Given the description of an element on the screen output the (x, y) to click on. 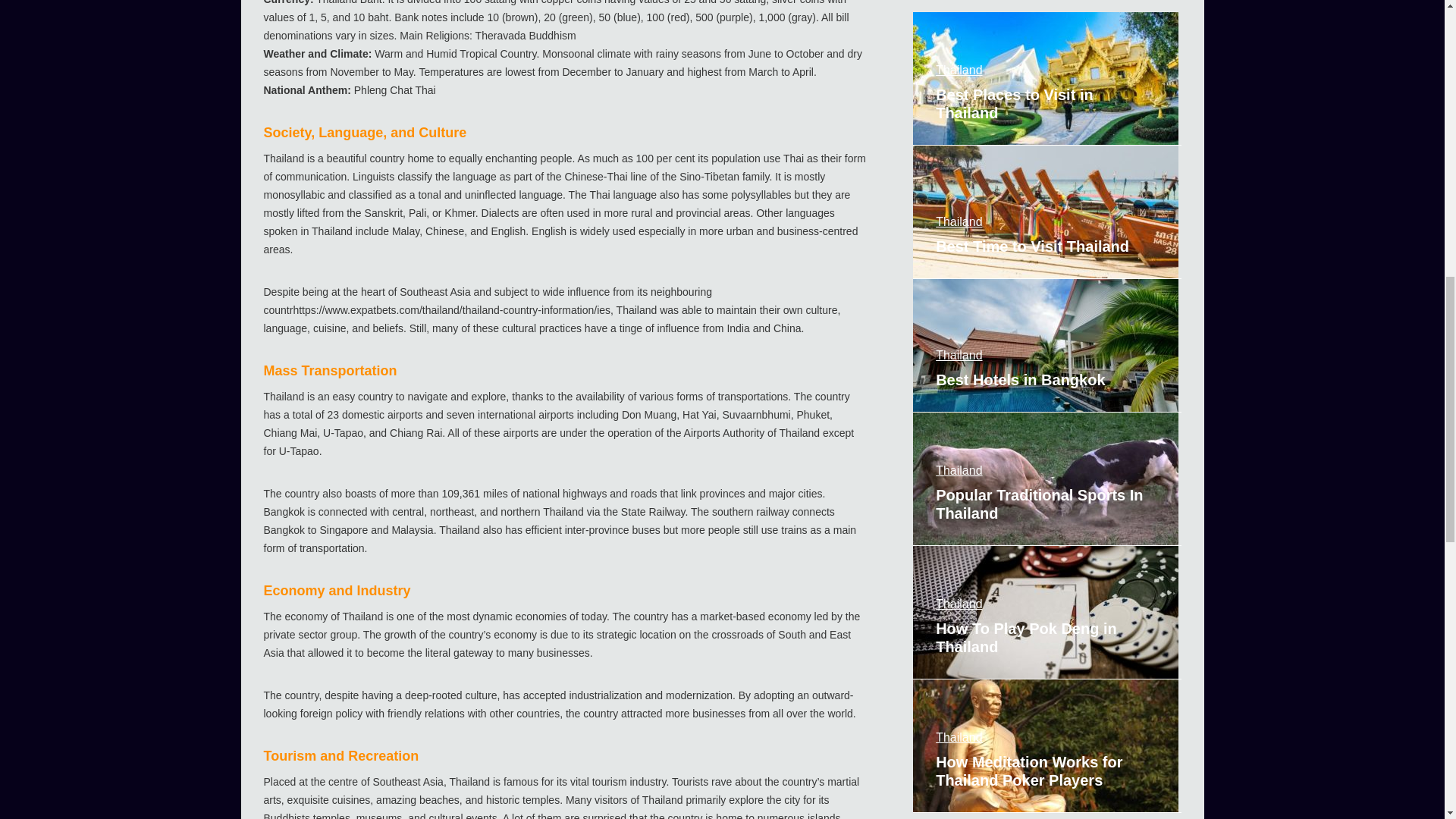
How To Play Pok Deng in Thailand (1046, 612)
Best Time to Visit Thailand (1046, 211)
Best Hotels in Bangkok (1046, 345)
Best Places to Visit in Thailand (1046, 78)
How Meditation Works for Thailand Poker Players (1046, 745)
Popular Traditional Sports In Thailand (1046, 478)
